Given the description of an element on the screen output the (x, y) to click on. 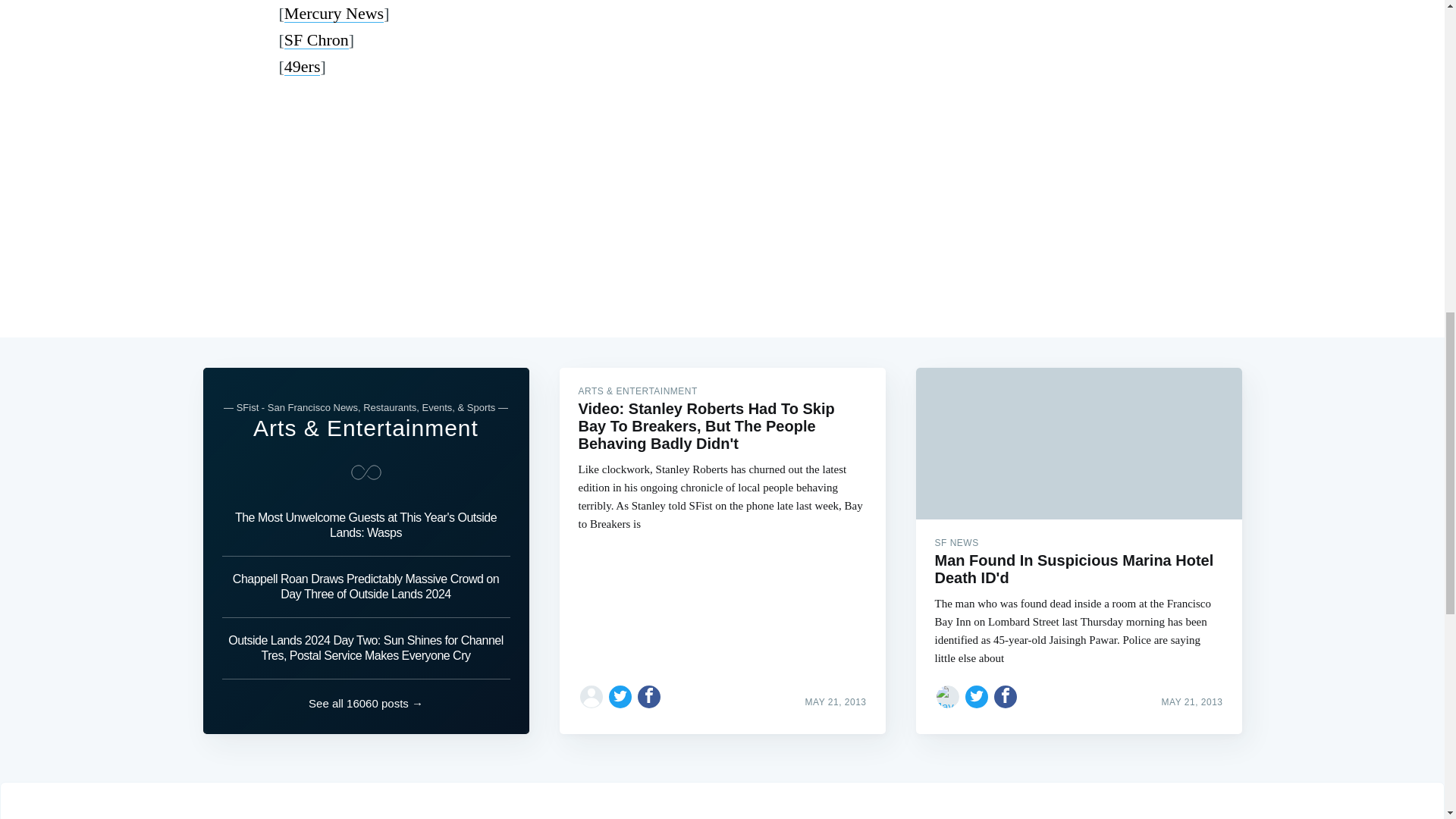
Share on Facebook (1004, 696)
SF Chron (316, 39)
Share on Twitter (976, 696)
Share on Facebook (649, 696)
Share on Twitter (620, 696)
49ers (301, 66)
